Given the description of an element on the screen output the (x, y) to click on. 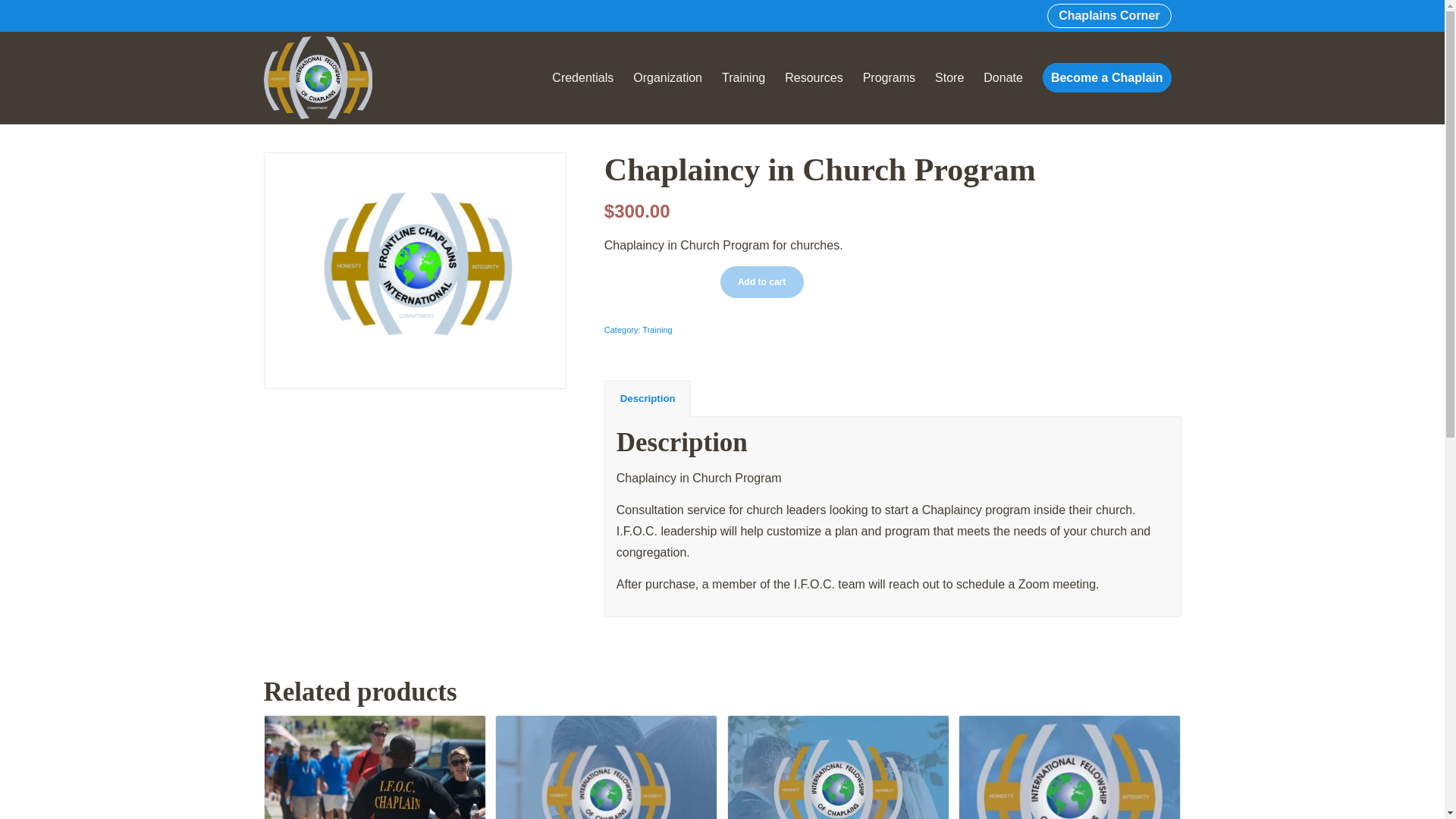
Chaplains Corner (1108, 15)
Description (647, 398)
IFOC Header Logo (317, 77)
Become a Chaplain (1106, 77)
Organization (667, 77)
Description (647, 398)
Training (656, 329)
IFOC Header Logo (317, 77)
Add to cart (761, 282)
